Given the description of an element on the screen output the (x, y) to click on. 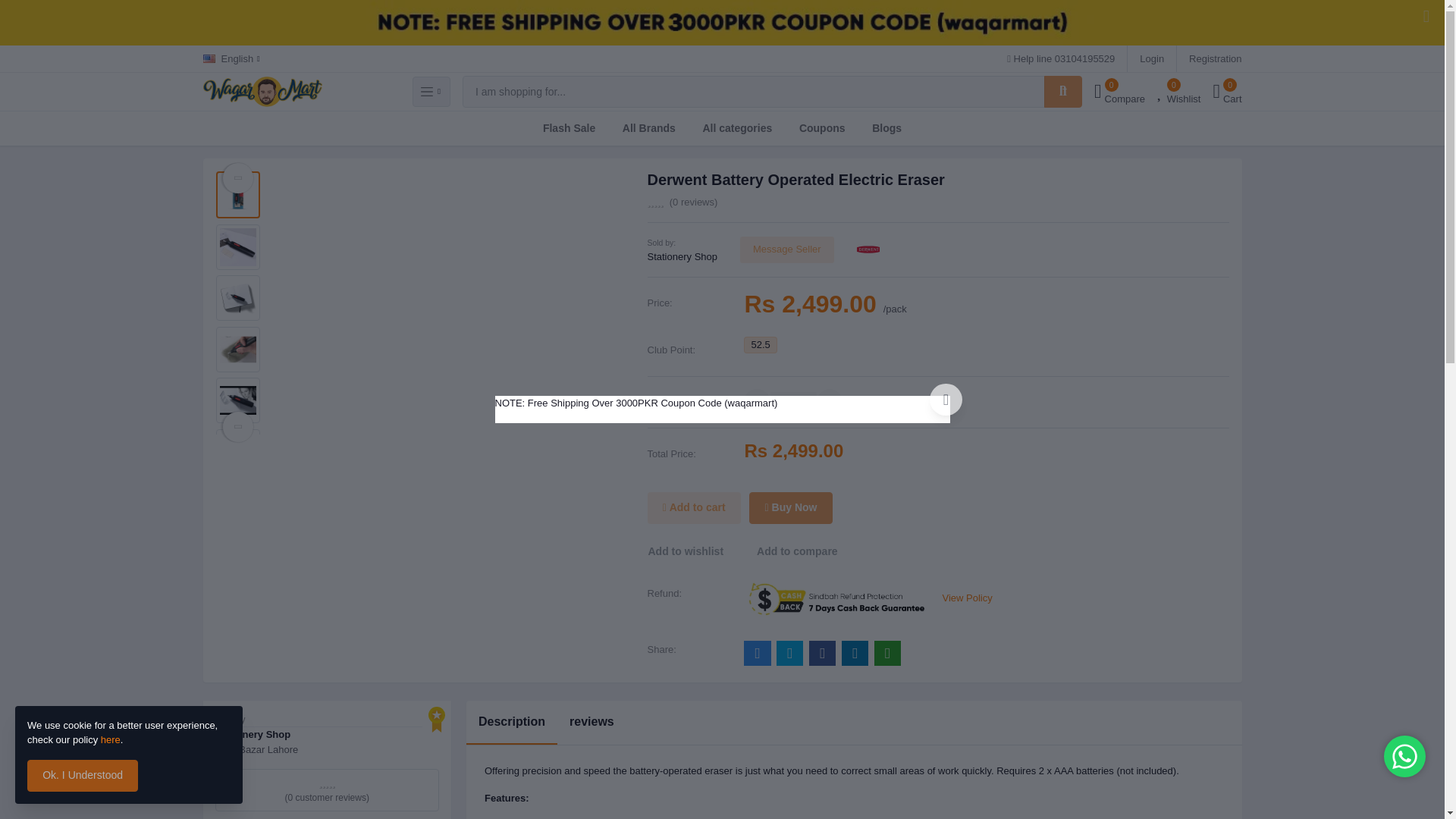
Registration (1119, 91)
All categories (1215, 58)
Blogs (737, 128)
Flash Sale (887, 128)
Login (1178, 91)
English (569, 128)
View Policy (1151, 58)
Buy Now (231, 58)
